Given the description of an element on the screen output the (x, y) to click on. 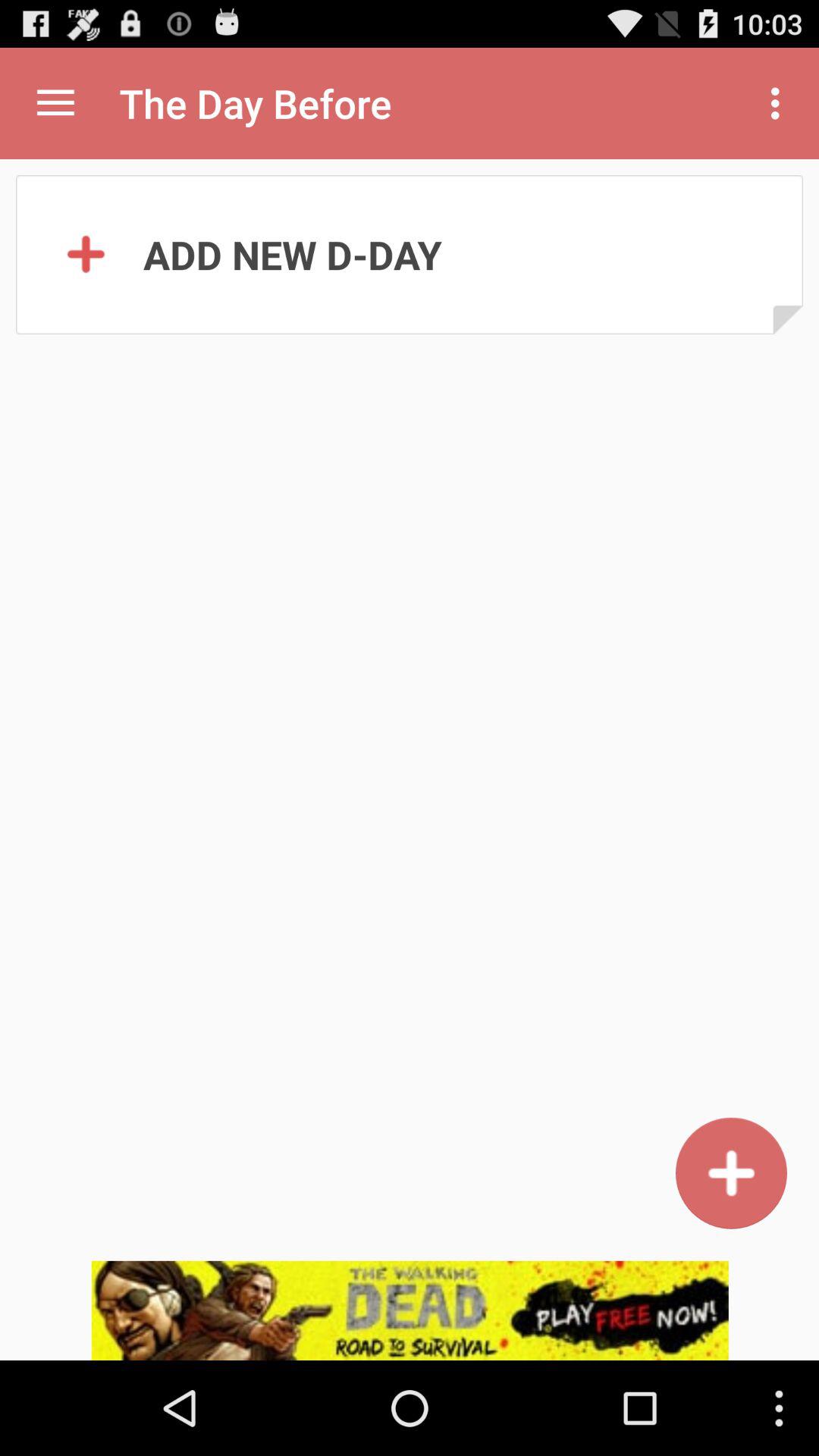
expand the menu (55, 103)
